Given the description of an element on the screen output the (x, y) to click on. 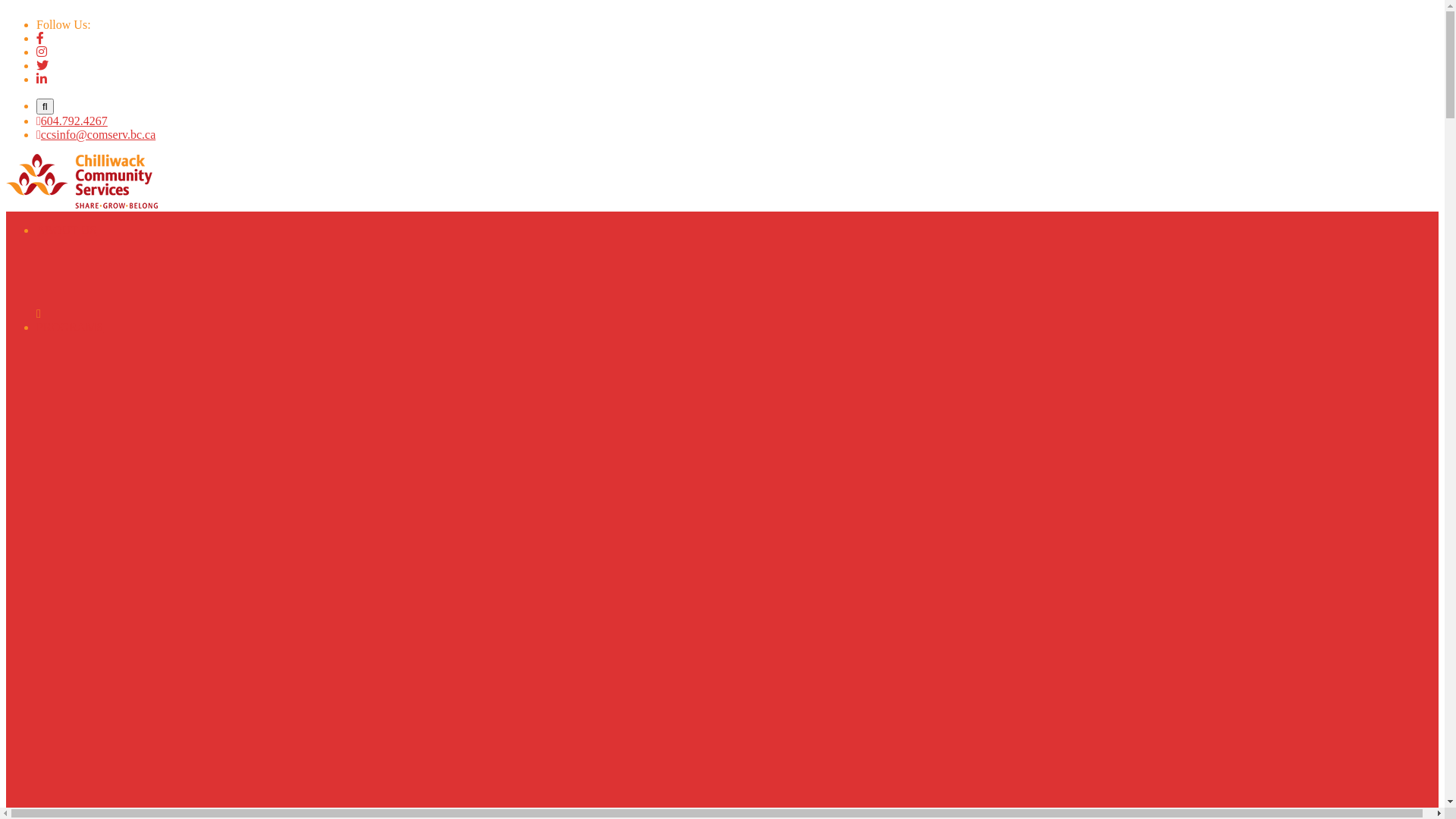
ccsinfo@comserv.bc.ca Element type: text (95, 134)
604.792.4267 Element type: text (71, 120)
PROGRAMS Element type: text (69, 326)
ABOUT US Element type: text (66, 229)
